Given the description of an element on the screen output the (x, y) to click on. 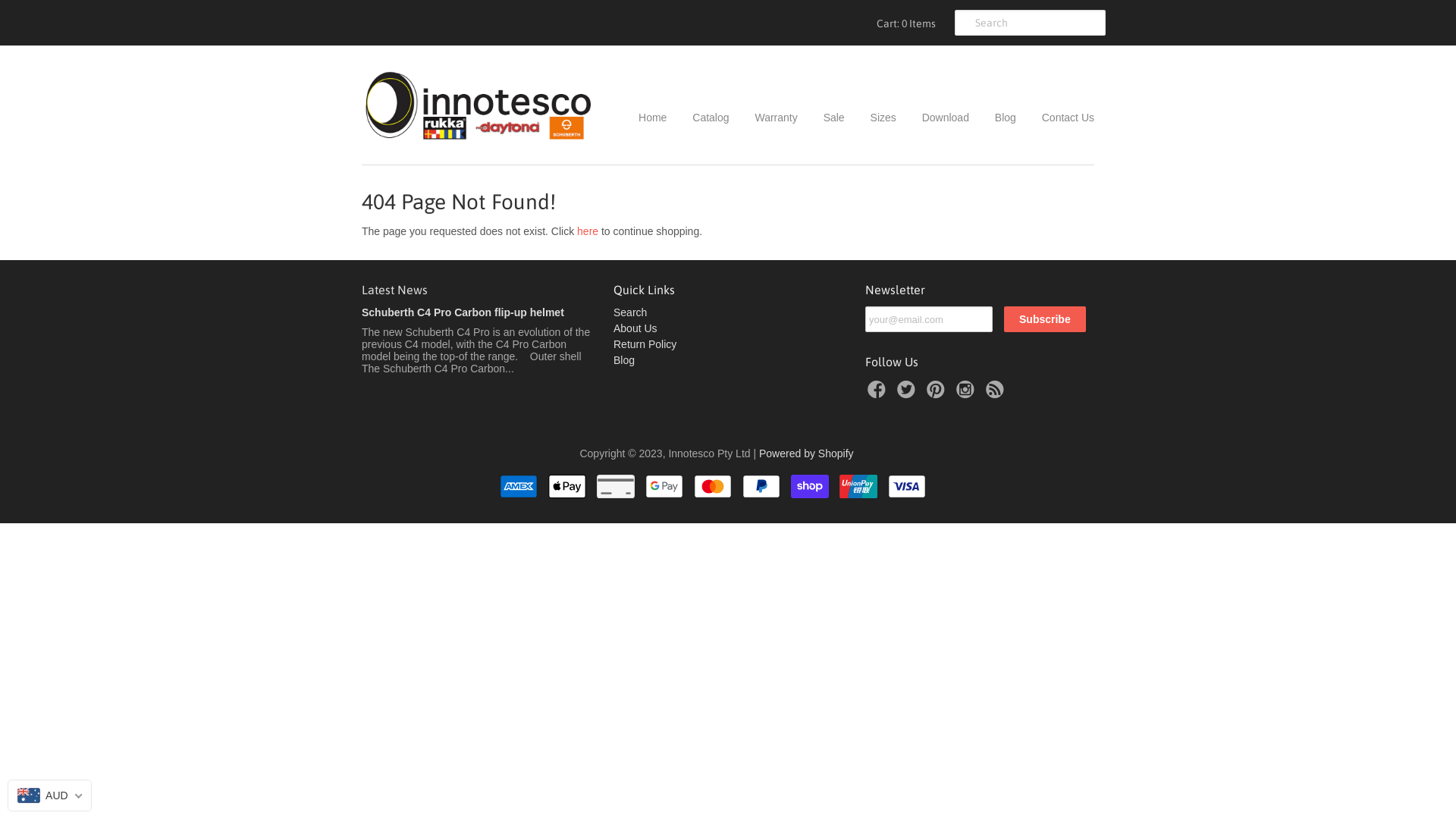
Warranty Element type: text (764, 117)
Contact Us Element type: text (1056, 117)
Follow us on Instagram! Element type: hover (967, 393)
About Us Element type: text (635, 328)
Sizes Element type: text (871, 117)
Follow us on Twitter! Element type: hover (908, 393)
Blog Element type: text (623, 360)
Sale Element type: text (822, 117)
Subscribe Element type: text (1044, 319)
Latest News Element type: text (394, 289)
Powered by Shopify Element type: text (806, 453)
Cart: 0 Items Element type: text (903, 23)
Follow us on Pinterest! Element type: hover (937, 393)
here Element type: text (587, 231)
Search Element type: text (629, 312)
Home Element type: text (652, 117)
Download Element type: text (934, 117)
Follow us on Facebook! Element type: hover (878, 393)
Return Policy Element type: text (644, 344)
Schuberth C4 Pro Carbon flip-up helmet Element type: text (462, 312)
Subscribe to our blog! Element type: hover (996, 393)
Catalog Element type: text (698, 117)
Blog Element type: text (994, 117)
